Given the description of an element on the screen output the (x, y) to click on. 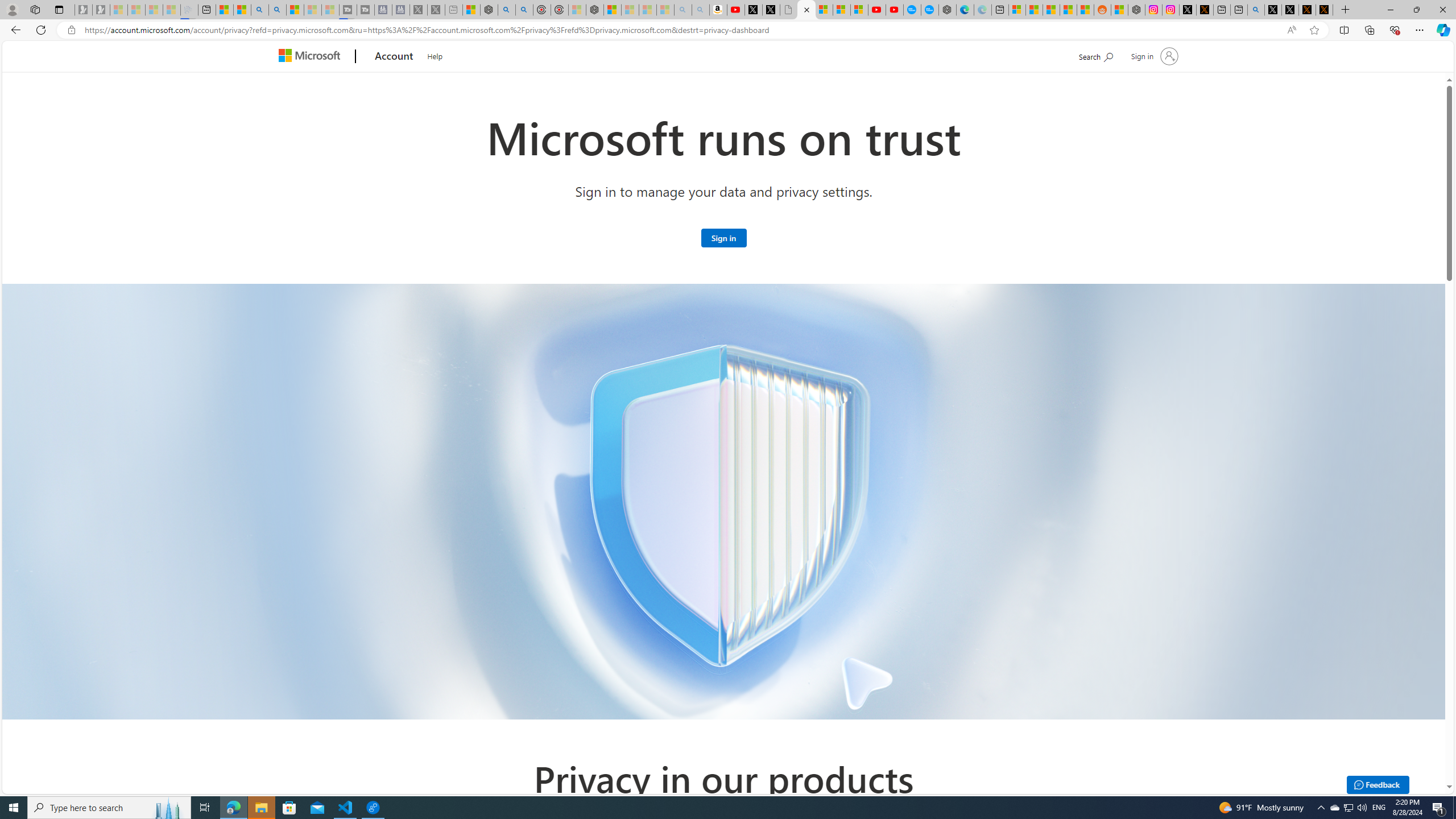
Account (394, 56)
help.x.com | 524: A timeout occurred (1204, 9)
Shanghai, China Weather trends | Microsoft Weather (1085, 9)
poe - Search (506, 9)
Sign in to your Microsoft account (723, 237)
